Given the description of an element on the screen output the (x, y) to click on. 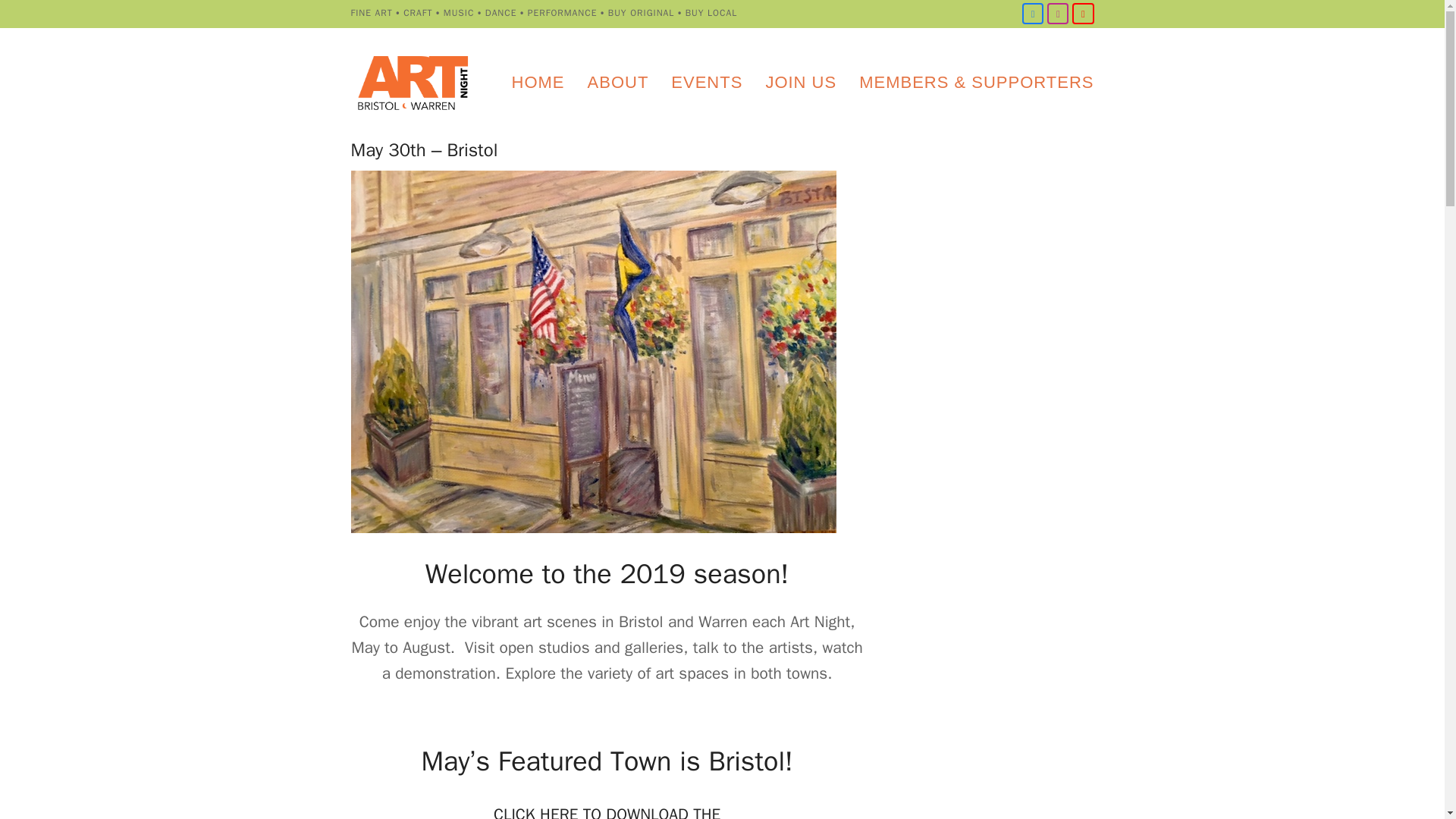
ABOUT (618, 83)
Facebook (1032, 13)
Instagram (1057, 13)
YouTube (1082, 13)
JOIN US (800, 83)
HOME (538, 83)
EVENTS (706, 83)
